Given the description of an element on the screen output the (x, y) to click on. 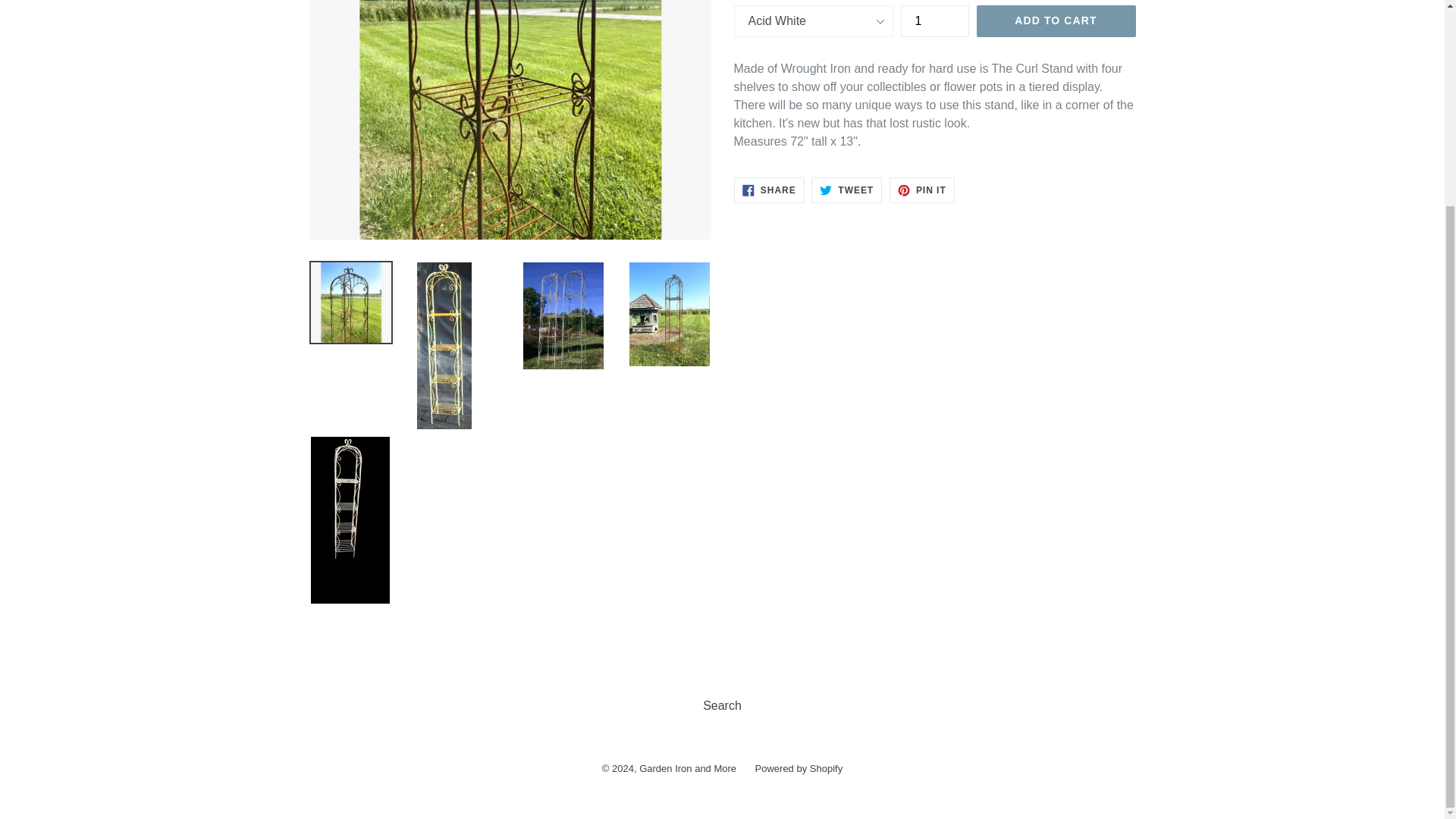
Pin on Pinterest (769, 190)
Tweet on Twitter (922, 190)
Garden Iron and More (846, 190)
Powered by Shopify (846, 190)
Share on Facebook (687, 767)
Search (799, 767)
1 (769, 190)
ADD TO CART (922, 190)
